Given the description of an element on the screen output the (x, y) to click on. 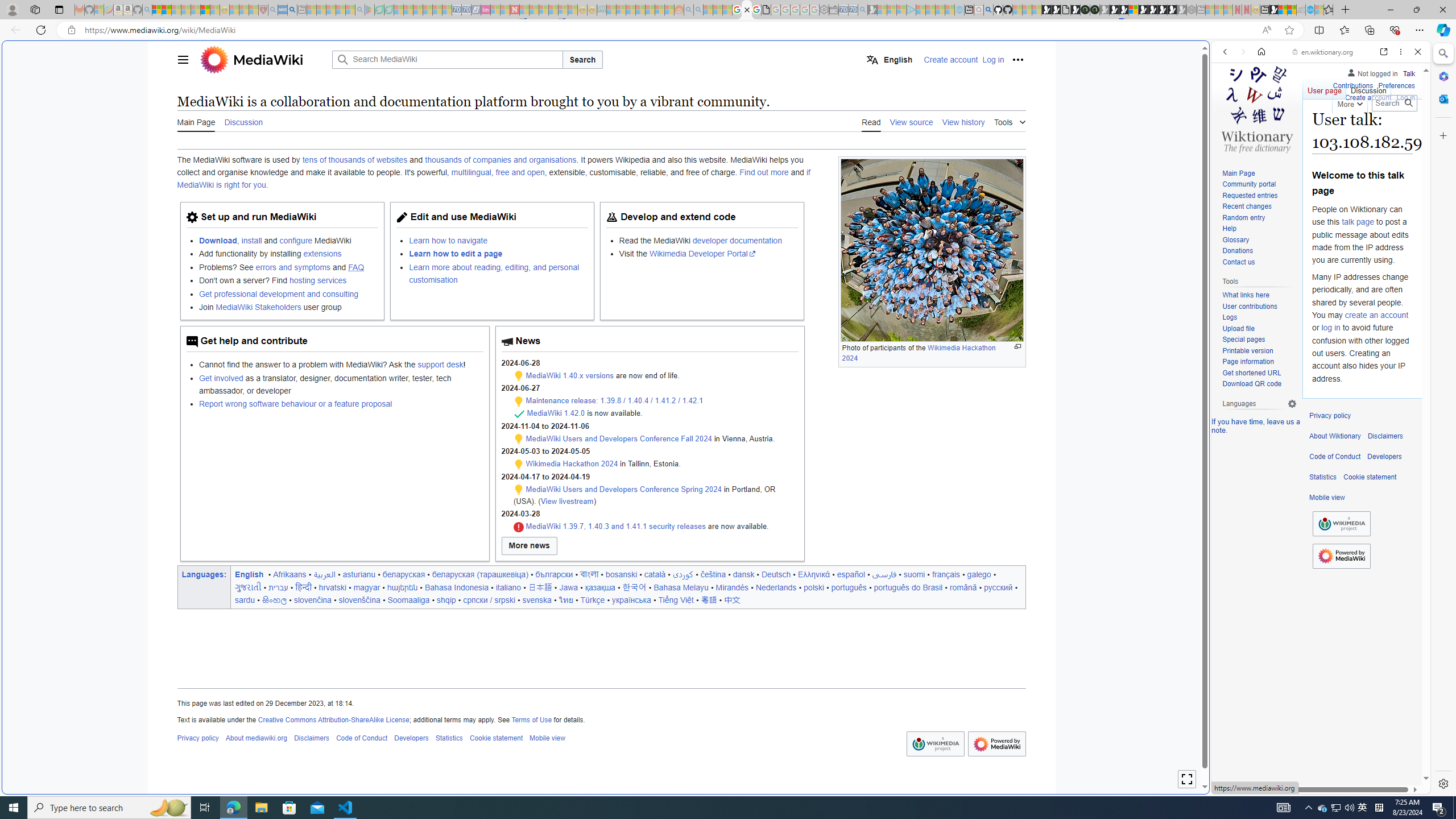
Tools (1009, 120)
Mobile view (1326, 497)
View history (963, 121)
utah sues federal government - Search (922, 389)
Create account (1367, 98)
Search MediaWiki (447, 59)
Bahasa Melayu (681, 587)
